Given the description of an element on the screen output the (x, y) to click on. 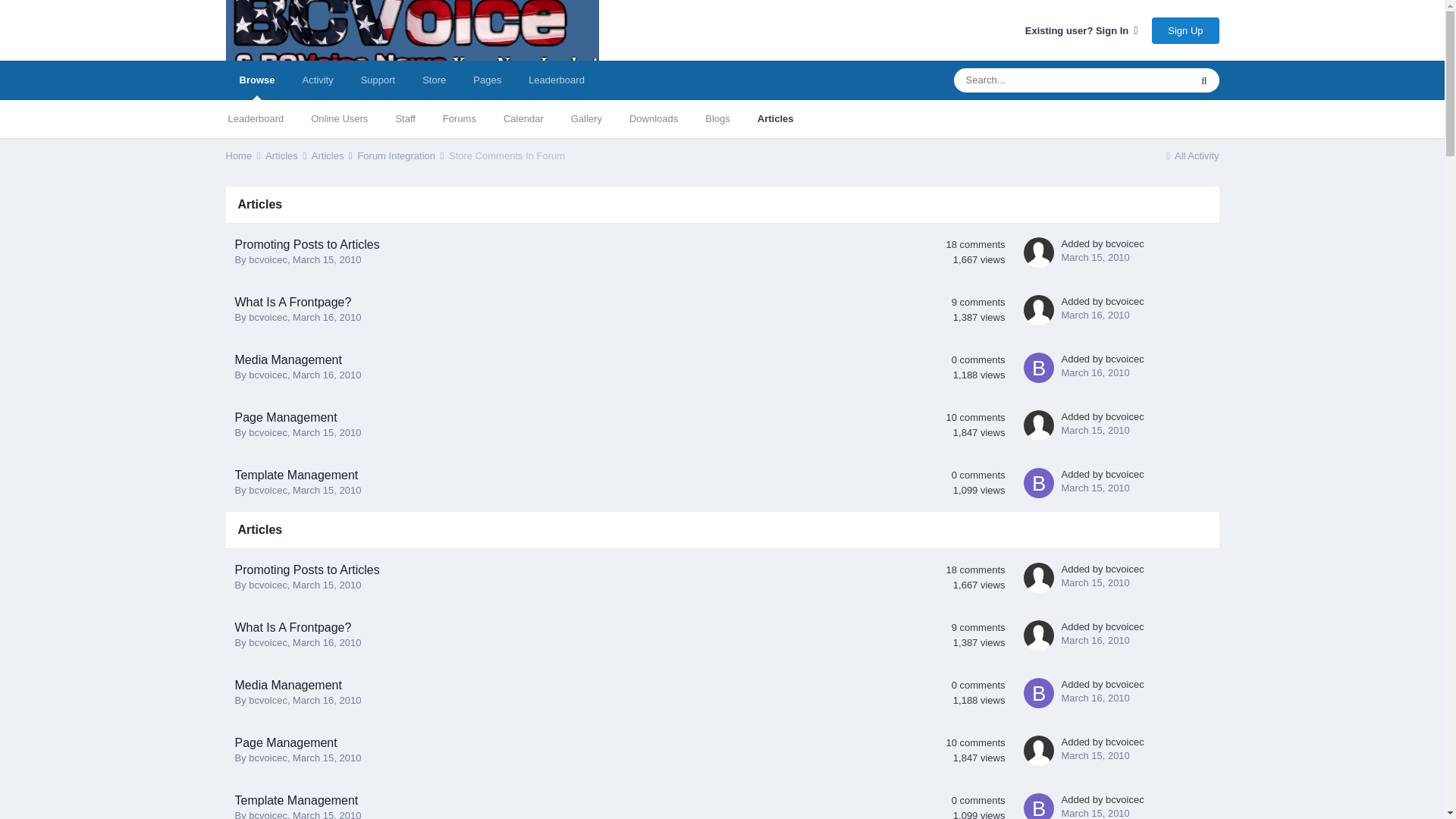
Gallery (586, 118)
Staff (405, 118)
Existing user? Sign In   (1081, 30)
Articles (333, 155)
Go to bcvoicec's profile (1124, 358)
Leaderboard (255, 118)
Go to bcvoicec's profile (267, 432)
Forum Integration (400, 155)
Go to bcvoicec's profile (1124, 243)
Online Users (339, 118)
Blogs (717, 118)
Go to bcvoicec's profile (1038, 367)
Support (378, 79)
Articles (776, 118)
Home (244, 155)
